Given the description of an element on the screen output the (x, y) to click on. 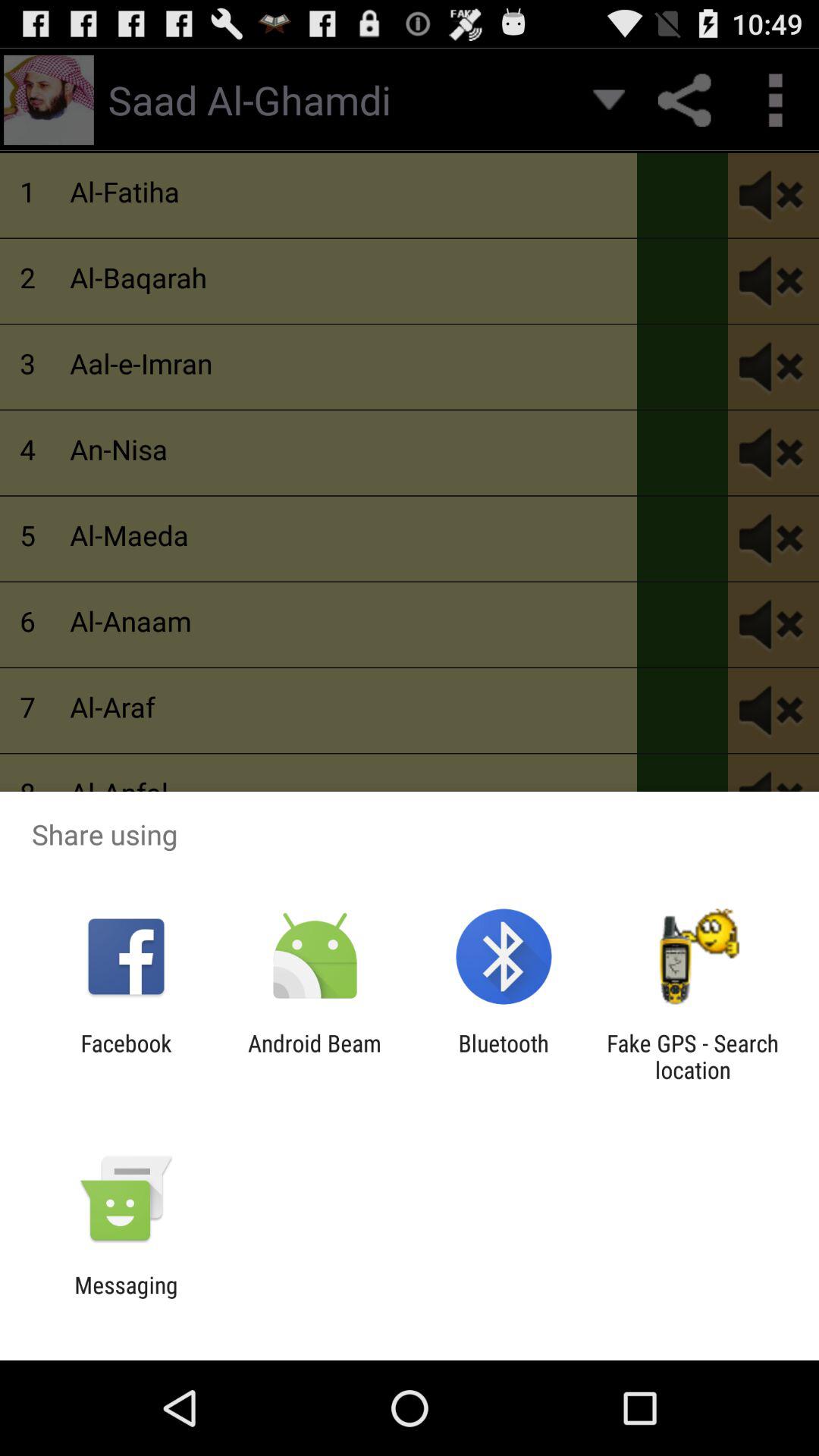
swipe until the bluetooth item (503, 1056)
